Given the description of an element on the screen output the (x, y) to click on. 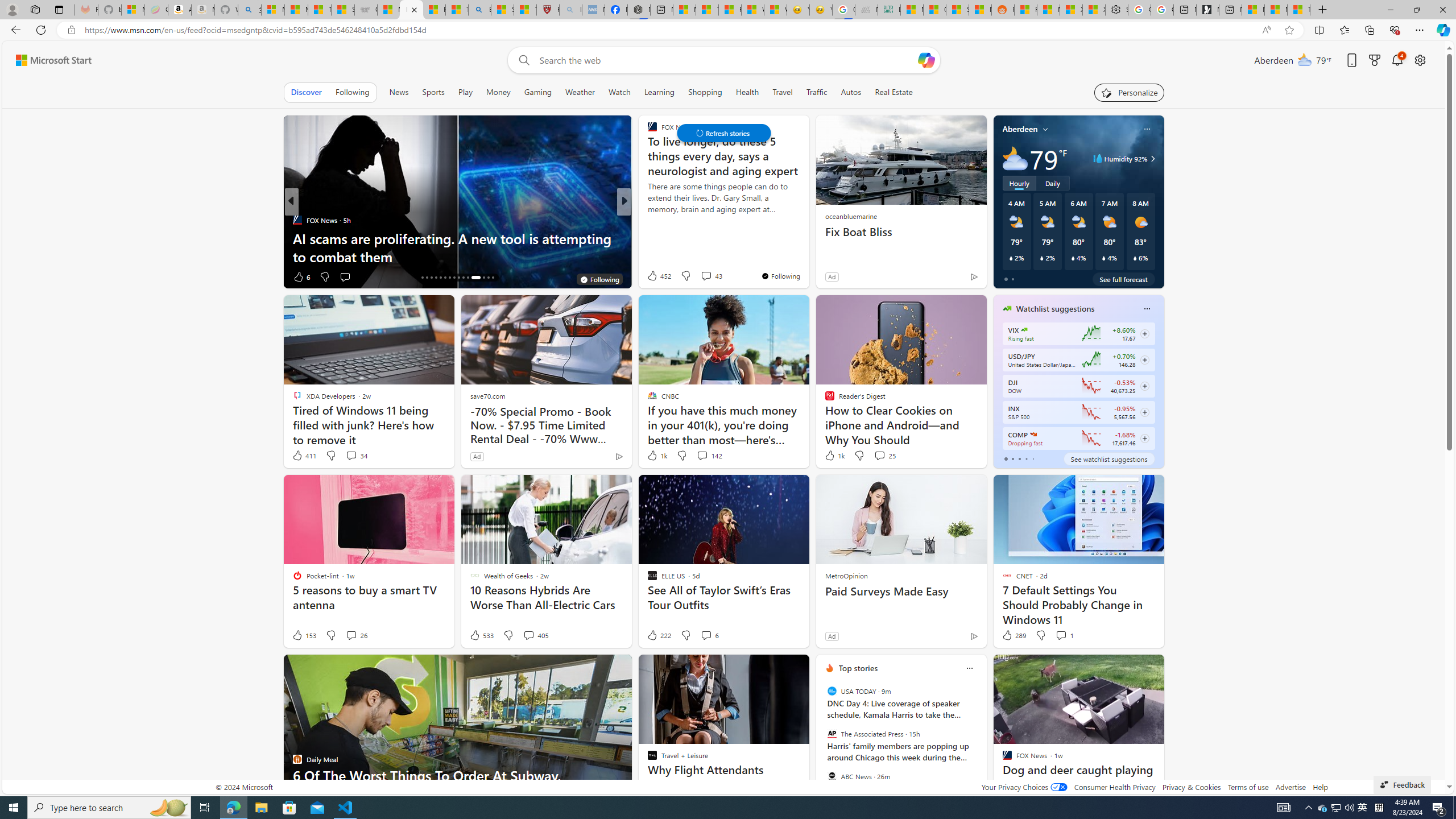
See watchlist suggestions (1108, 459)
Mostly cloudy (1014, 158)
20 Like (652, 276)
You're following FOX News (780, 275)
R******* | Trusted Community Engagement and Contributions (1025, 9)
